Given the description of an element on the screen output the (x, y) to click on. 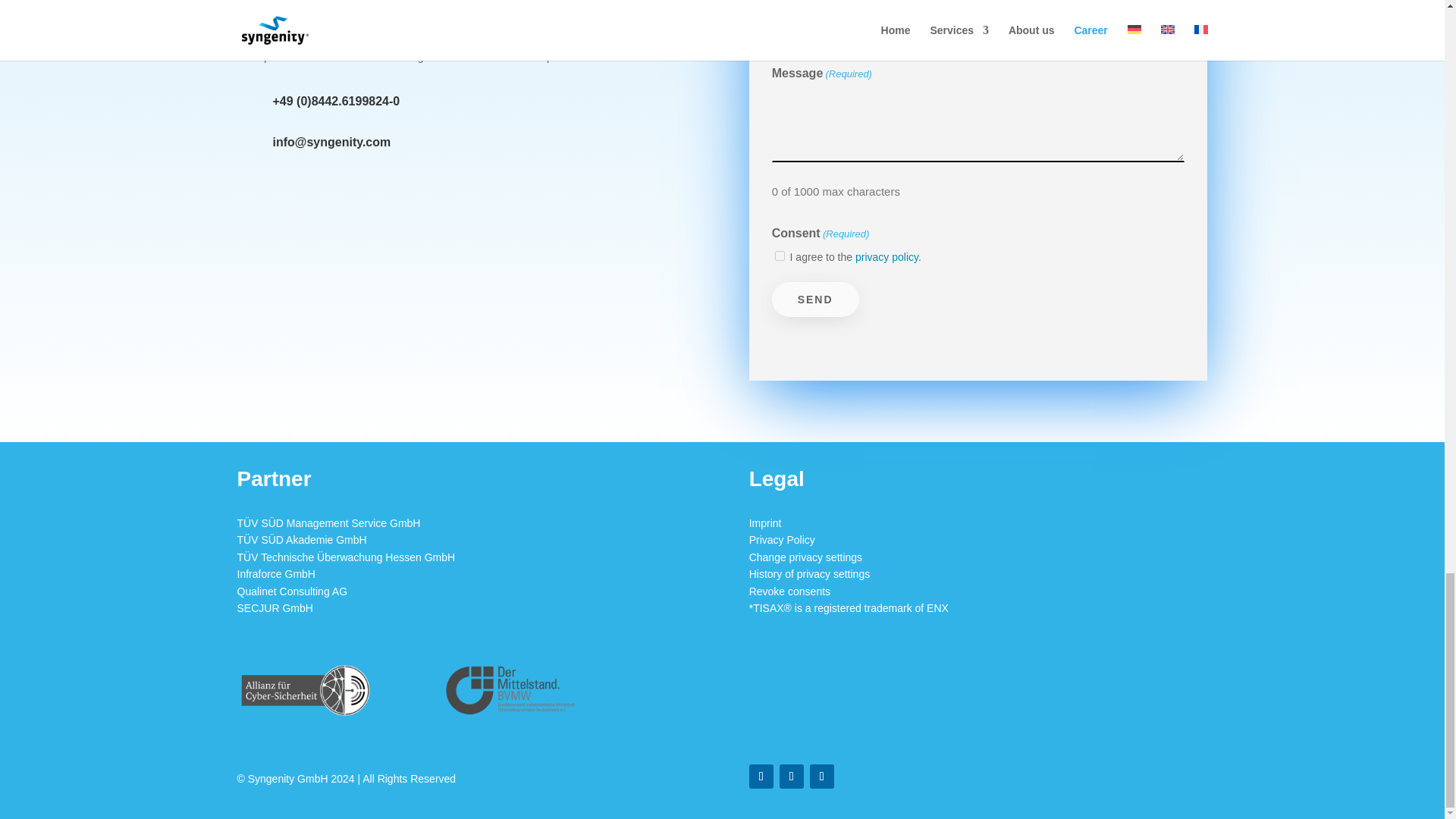
SEND (815, 298)
Follow on LinkedIn (821, 776)
alliance-for-cybersecurity (303, 689)
Follow on XING (790, 776)
SEND (815, 298)
privacy policy (887, 256)
1 (779, 255)
Follow on Instagram (761, 776)
